Given the description of an element on the screen output the (x, y) to click on. 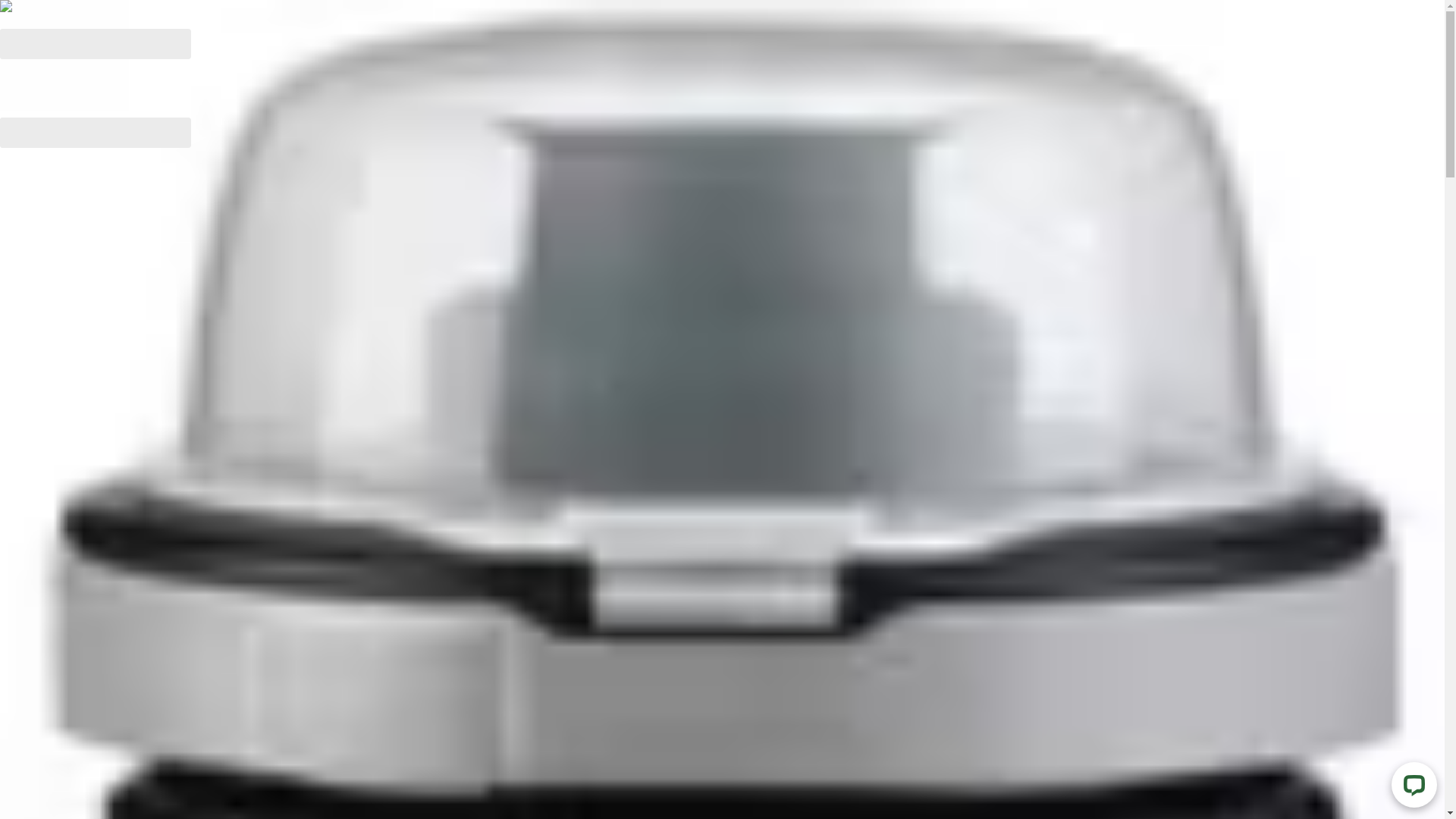
Climb (58, 689)
Cycle (57, 710)
Gear (56, 452)
Men (55, 495)
Travel (59, 753)
Men (55, 495)
Water (58, 667)
Mountain Days Deals (100, 409)
Cycle (57, 710)
About us (66, 581)
